Given the description of an element on the screen output the (x, y) to click on. 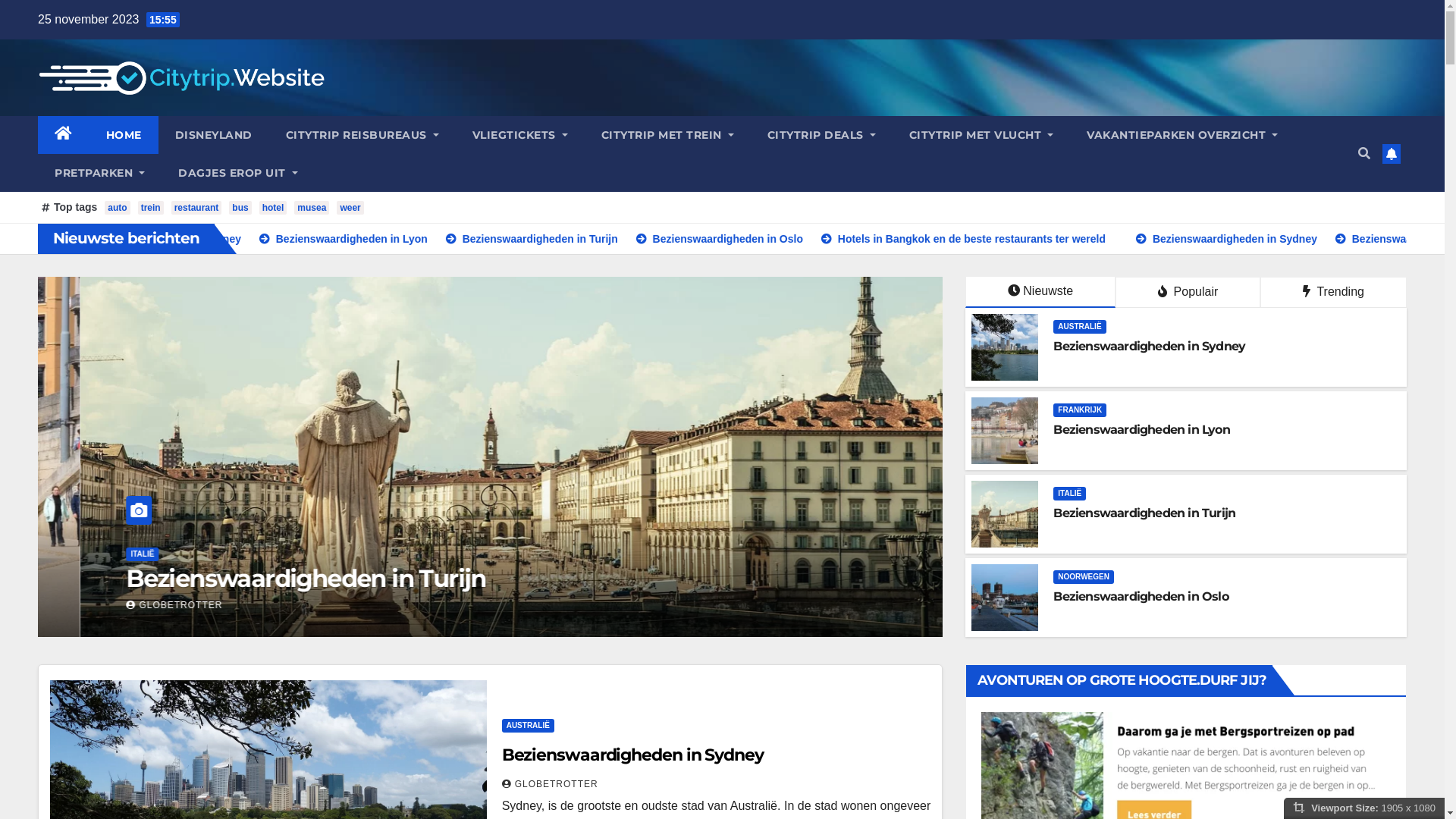
Hotels in Bangkok en de beste restaurants ter wereld Element type: text (1193, 238)
auto Element type: text (116, 207)
Bezienswaardigheden in Sydney Element type: text (632, 754)
HOME Element type: text (123, 134)
DAGJES EROP UIT Element type: text (237, 172)
PRETPARKEN Element type: text (99, 172)
Bezienswaardigheden in Lyon Element type: text (576, 238)
NOORWEGEN Element type: text (1083, 576)
Hotels in Bangkok en de beste restaurants ter wereld Element type: text (390, 578)
Bezienswaardigheden in Oslo Element type: text (951, 238)
CITYTRIP MET TREIN Element type: text (667, 134)
GLOBETROTTER Element type: text (131, 604)
weer Element type: text (349, 207)
Bezienswaardigheden in Lyon Element type: text (1141, 429)
Populair Element type: text (1187, 292)
DISNEYLAND Element type: text (212, 134)
GLOBETROTTER Element type: text (550, 783)
Bezienswaardigheden in Turijn Element type: text (764, 238)
Bezienswaardigheden in Oslo Element type: text (1140, 596)
trein Element type: text (150, 207)
CITYTRIP DEALS Element type: text (821, 134)
bus Element type: text (240, 207)
musea Element type: text (311, 207)
VLIEGTICKETS Element type: text (519, 134)
Trending Element type: text (1333, 292)
FRANKRIJK Element type: text (1079, 410)
restaurant Element type: text (196, 207)
CITYTRIP MET VLUCHT Element type: text (981, 134)
hotel Element type: text (273, 207)
Bezienswaardigheden in Sydney Element type: text (384, 238)
Bezienswaardigheden in Sydney Element type: text (1149, 345)
CITYTRIP REISBUREAUS Element type: text (361, 134)
VAKANTIEPARKEN OVERZICHT Element type: text (1182, 134)
Bezienswaardigheden in Turijn Element type: text (1144, 512)
THAILAND Element type: text (107, 554)
Nieuwste Element type: text (1040, 291)
